Given the description of an element on the screen output the (x, y) to click on. 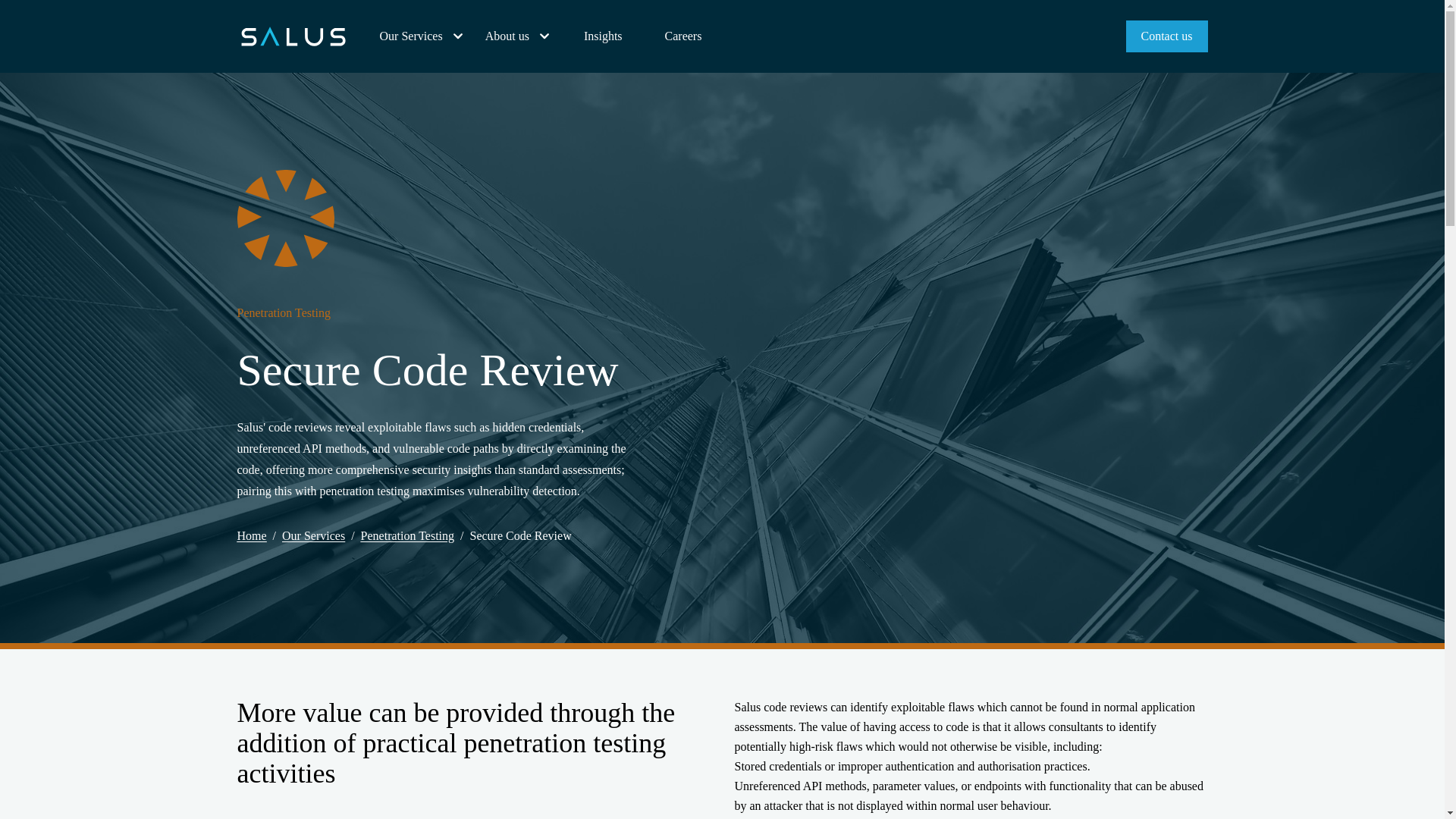
home (292, 36)
Contact us (1166, 36)
About us (518, 35)
Careers (683, 36)
Our Services (423, 35)
Insights (603, 36)
Our Services (423, 35)
